Given the description of an element on the screen output the (x, y) to click on. 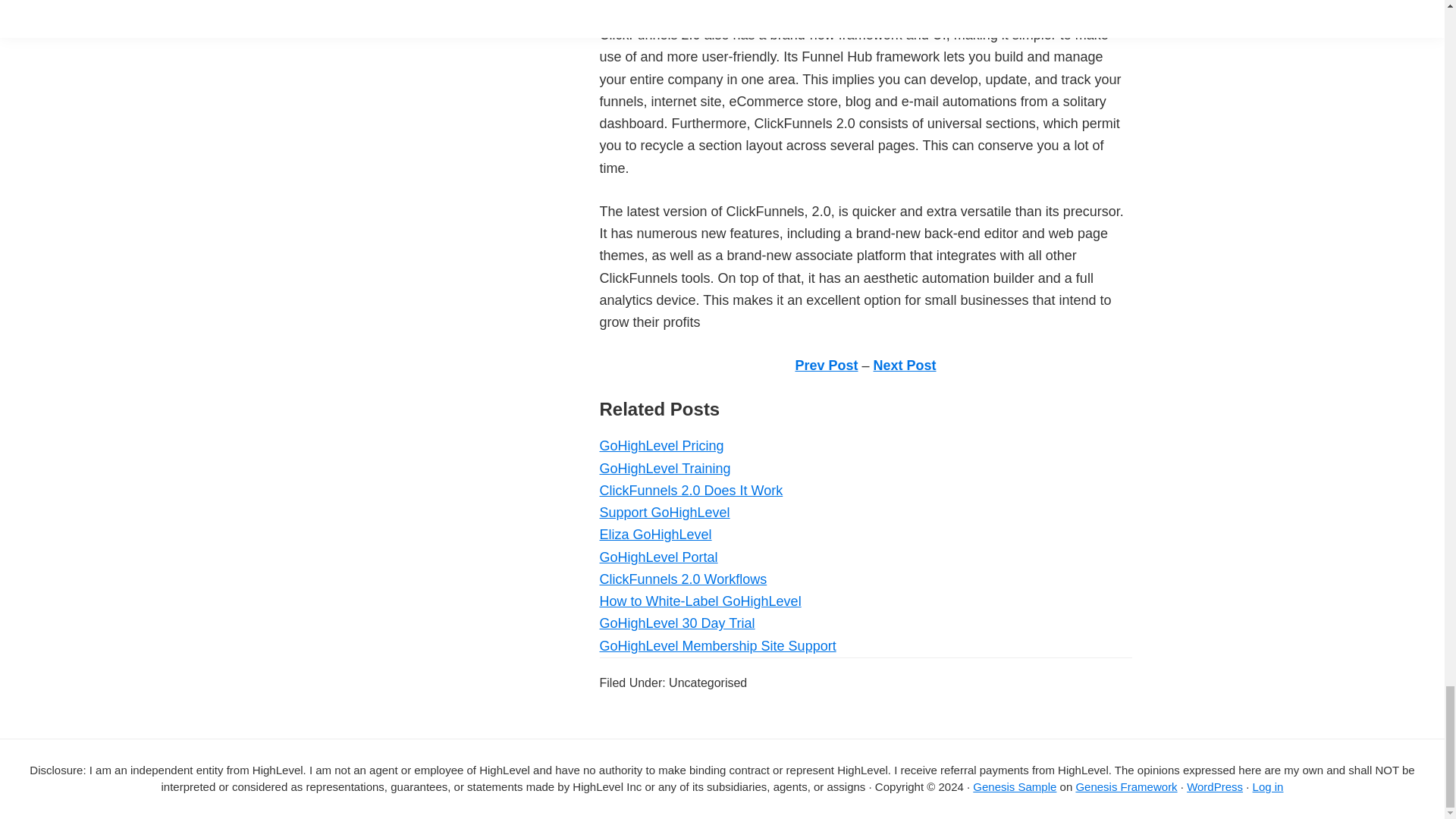
Genesis Framework (1125, 786)
GoHighLevel 30 Day Trial (676, 622)
ClickFunnels 2.0 Does It Work (690, 490)
Eliza GoHighLevel (654, 534)
How to White-Label GoHighLevel (699, 601)
Support GoHighLevel (663, 512)
Eliza GoHighLevel (654, 534)
Support GoHighLevel (663, 512)
ClickFunnels 2.0 Does It Work (690, 490)
ClickFunnels 2.0 Workflows (682, 579)
GoHighLevel Portal (657, 557)
GoHighLevel Pricing (660, 445)
Prev Post (825, 365)
GoHighLevel Portal (657, 557)
Next Post (904, 365)
